Given the description of an element on the screen output the (x, y) to click on. 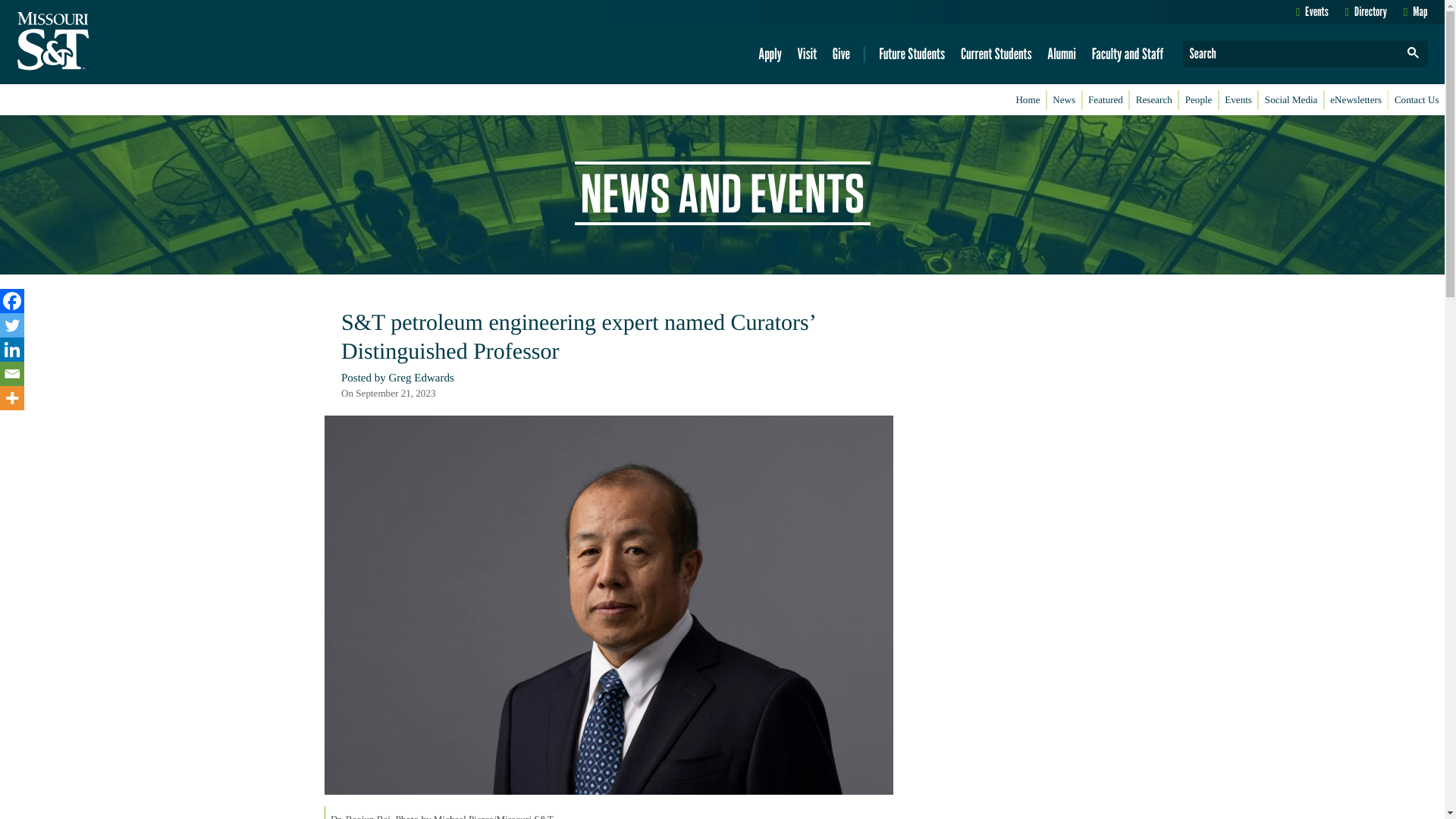
Map (1415, 11)
Visit (806, 53)
Research (1153, 99)
Alumni (1061, 53)
Email (12, 373)
Linkedin (12, 349)
Events (1238, 99)
Posts by Greg Edwards (421, 378)
eNewsletters (1355, 99)
News and Events (722, 193)
Events (1311, 11)
More (12, 397)
Featured (1106, 99)
Directory (1366, 11)
People (1198, 99)
